Given the description of an element on the screen output the (x, y) to click on. 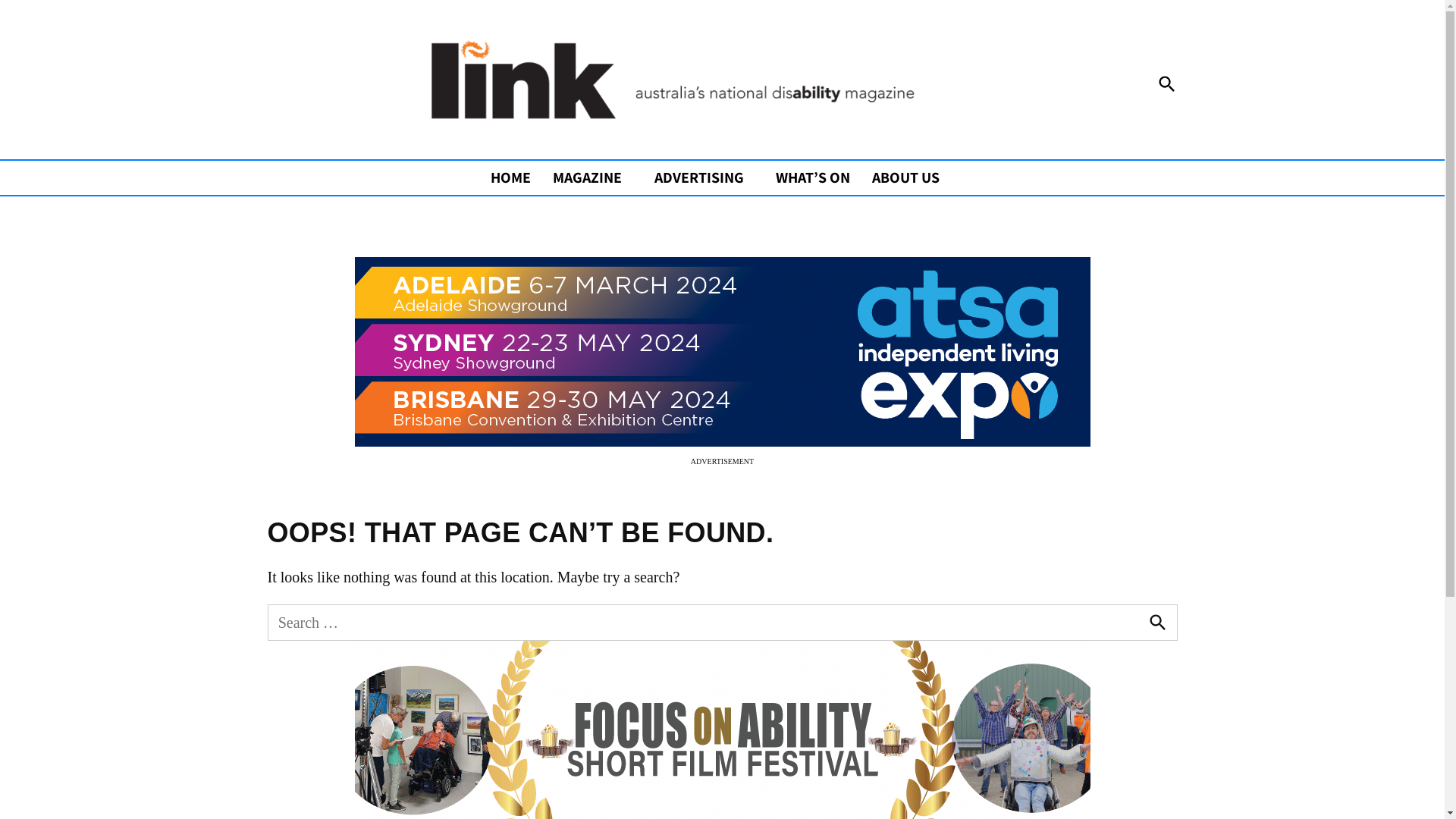
MAGAZINE Element type: text (583, 177)
HOME Element type: text (514, 177)
ABOUT US Element type: text (901, 177)
Open Search Element type: text (1165, 83)
3rd party ad content Element type: hover (722, 351)
Search Element type: text (1157, 622)
ADVERTISING Element type: text (694, 177)
